Given the description of an element on the screen output the (x, y) to click on. 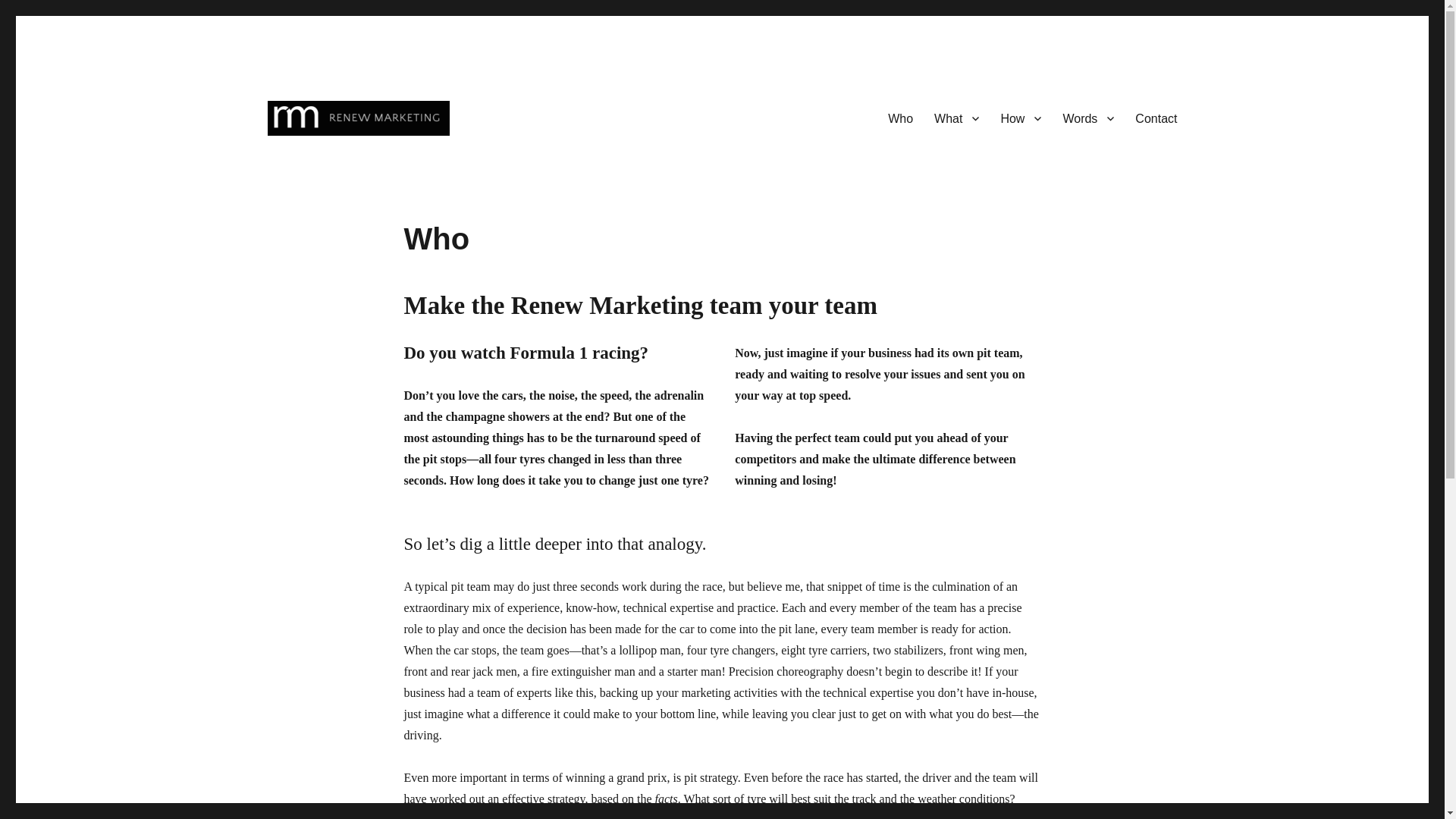
How (1020, 118)
What (956, 118)
Words (1087, 118)
Who (900, 118)
Contact (1156, 118)
Renew Marketing (353, 159)
